Given the description of an element on the screen output the (x, y) to click on. 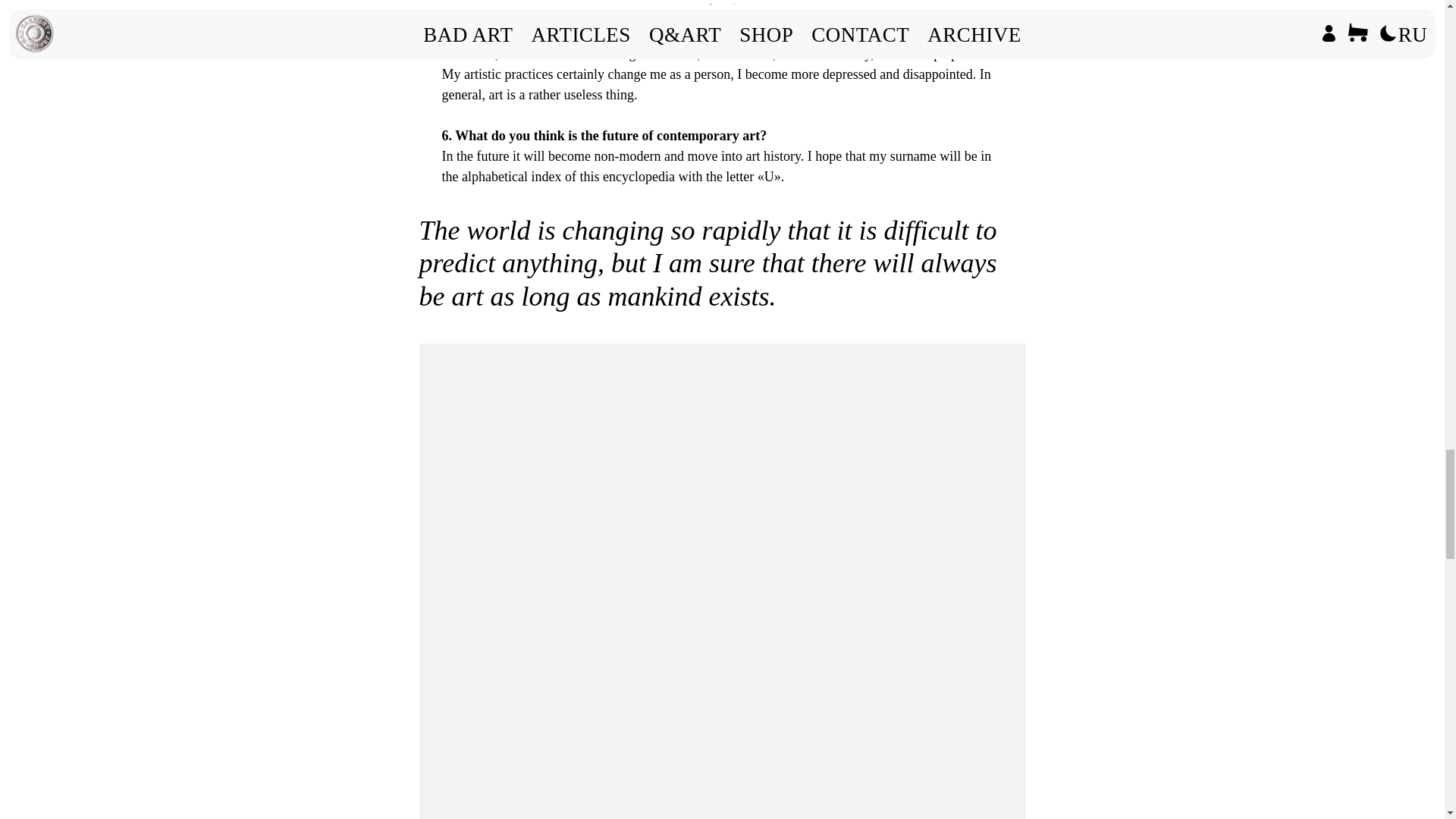
1 (711, 6)
2 (733, 6)
